Given the description of an element on the screen output the (x, y) to click on. 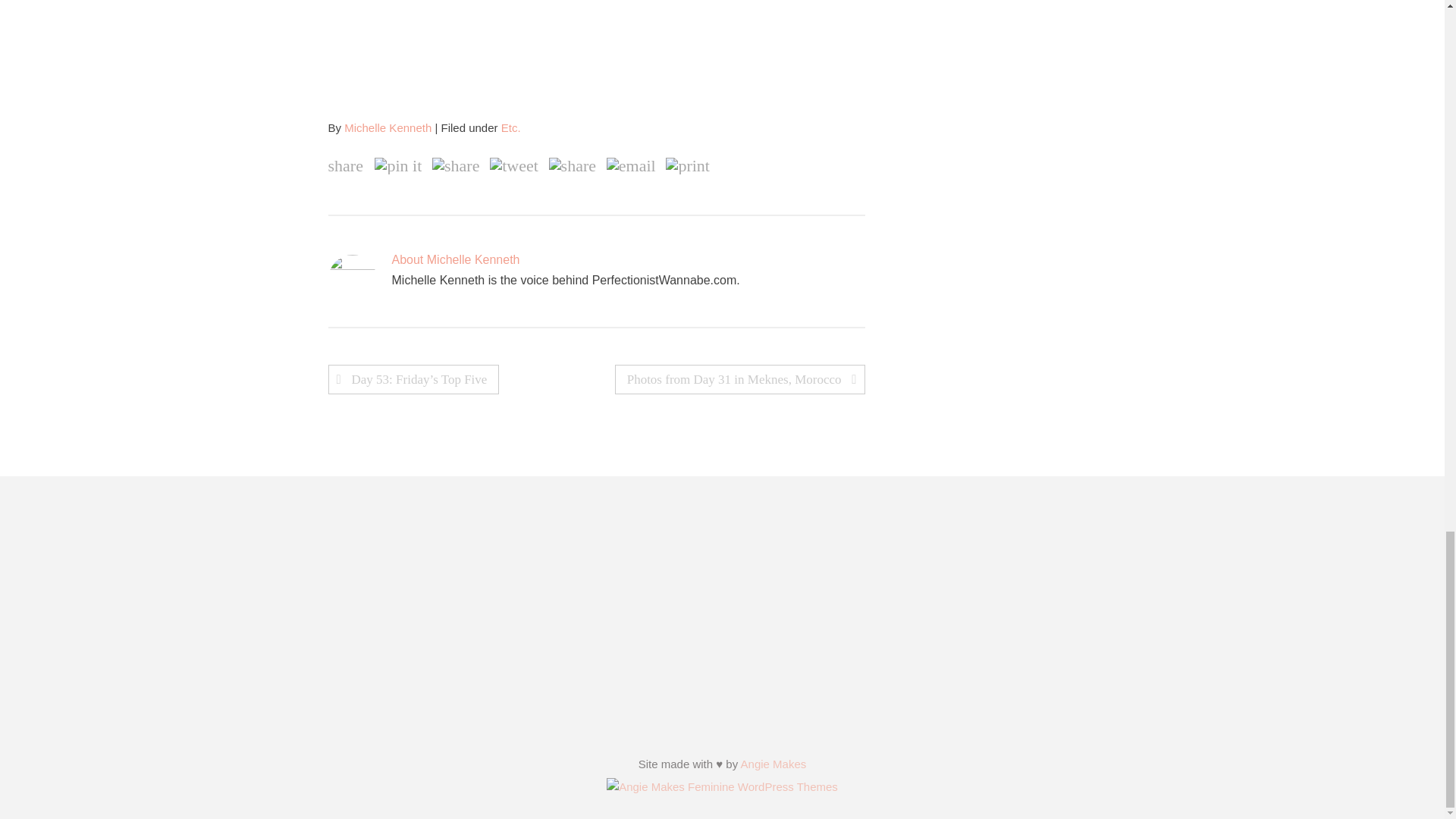
Photos from Day 31 in Meknes, Morocco (739, 378)
Rabat (595, 41)
Etc. (510, 127)
Share by Email (631, 166)
Michelle Kenneth (386, 127)
